Given the description of an element on the screen output the (x, y) to click on. 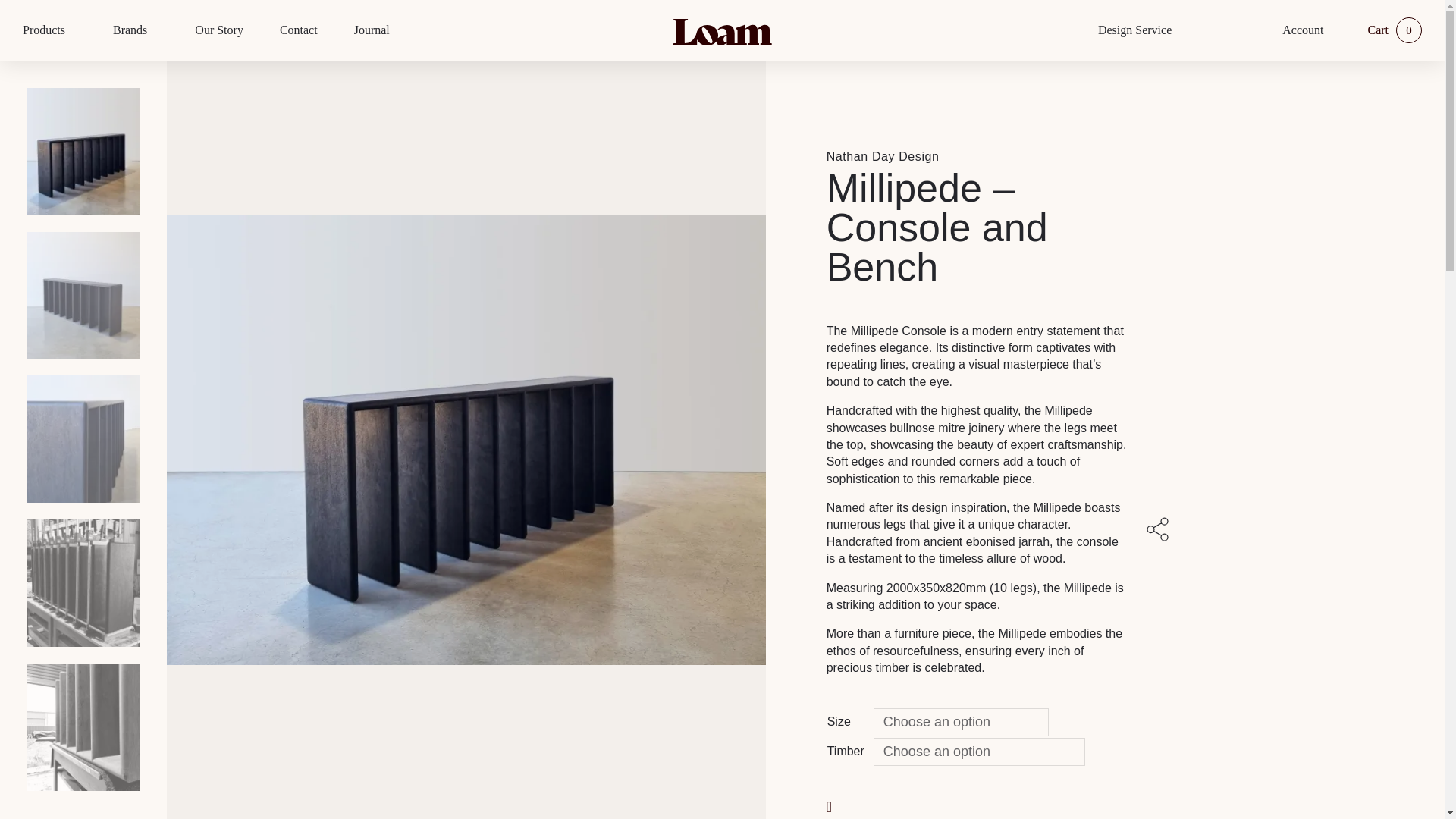
Toggle Menu (72, 29)
